Given the description of an element on the screen output the (x, y) to click on. 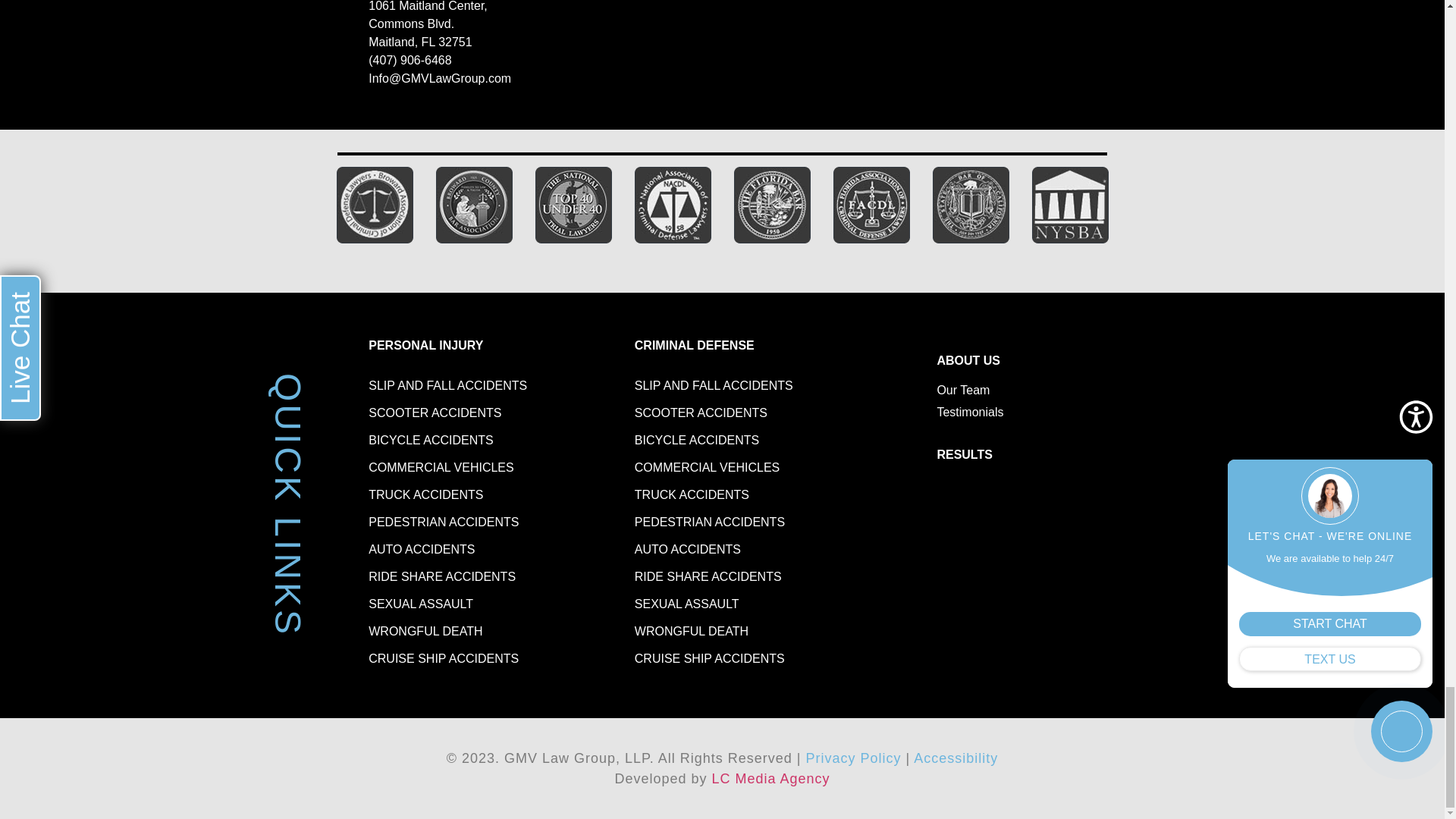
gmv law group (1074, 61)
